Given the description of an element on the screen output the (x, y) to click on. 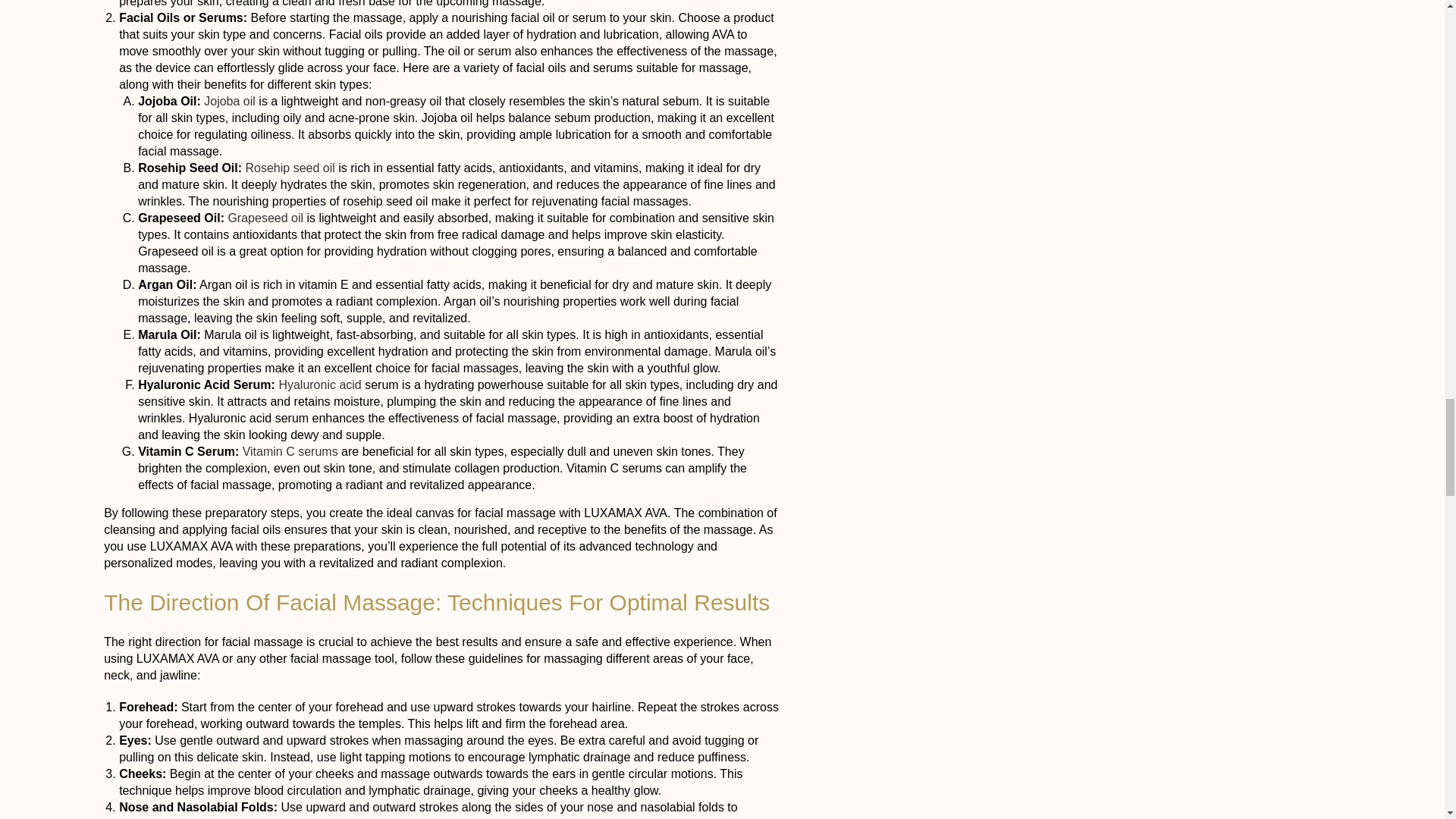
Vitamin C serums (290, 451)
Rosehip seed oil (290, 167)
Hyaluronic acid (319, 384)
Jojoba oil (229, 101)
Grapeseed oil (264, 217)
